Given the description of an element on the screen output the (x, y) to click on. 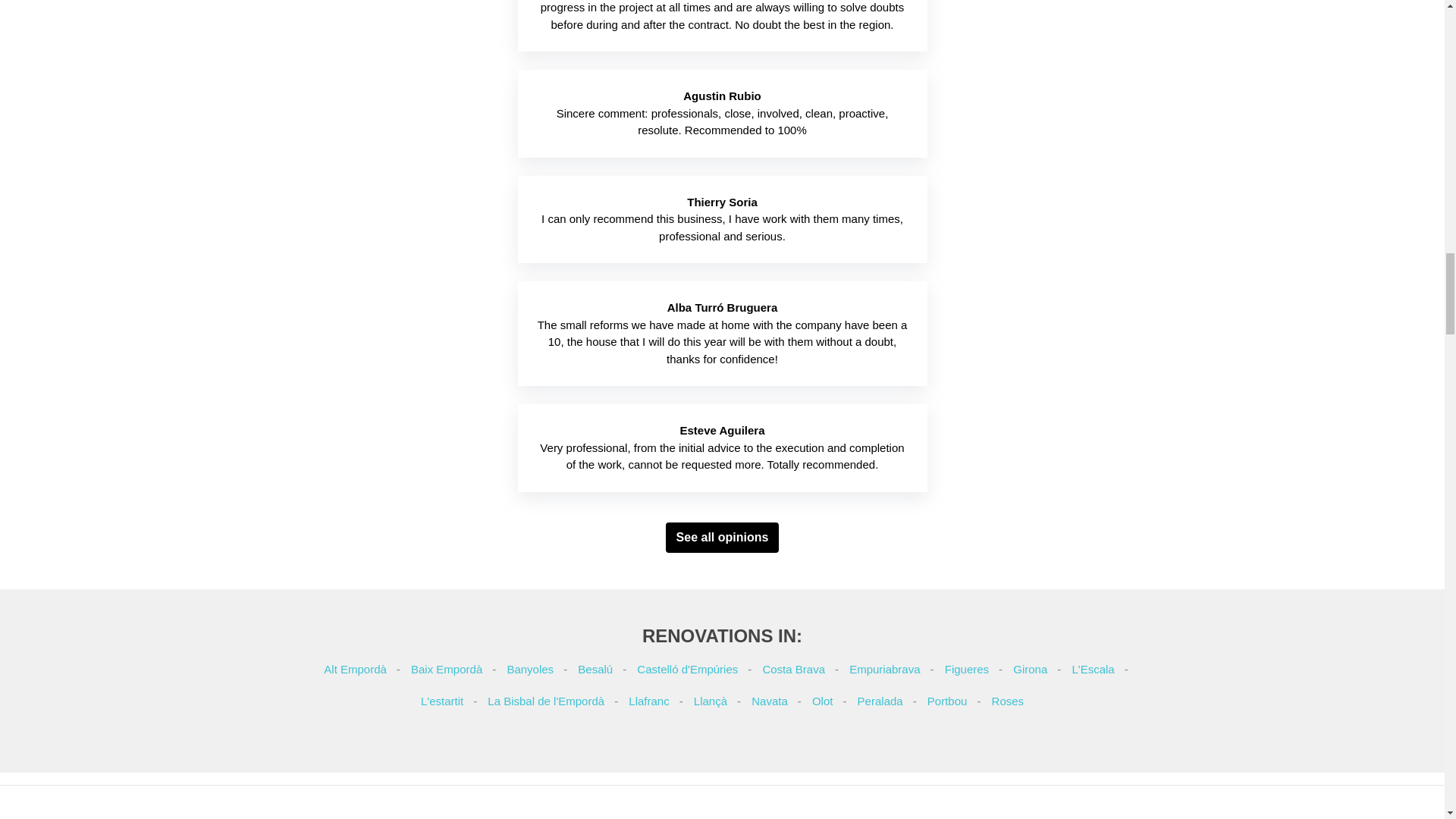
See all opinions (721, 537)
Peralada (879, 700)
Costa Brava (793, 668)
L'Escala (1092, 668)
Roses (1008, 700)
Portbou (947, 700)
L'estartit (441, 700)
Olot (822, 700)
Banyoles (529, 668)
Figueres (966, 668)
